Given the description of an element on the screen output the (x, y) to click on. 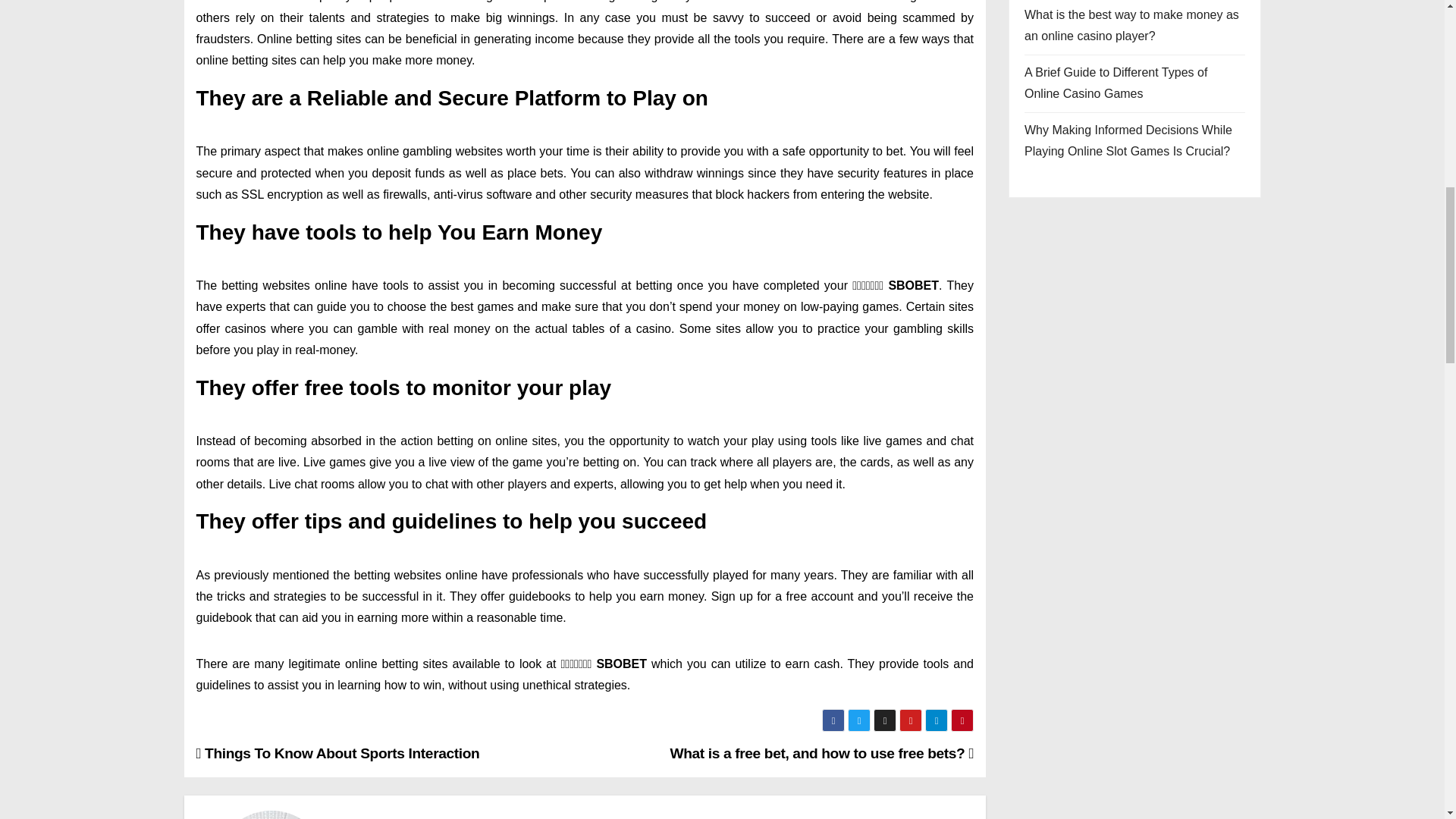
Things To Know About Sports Interaction (337, 753)
What is a free bet, and how to use free bets? (821, 753)
